Given the description of an element on the screen output the (x, y) to click on. 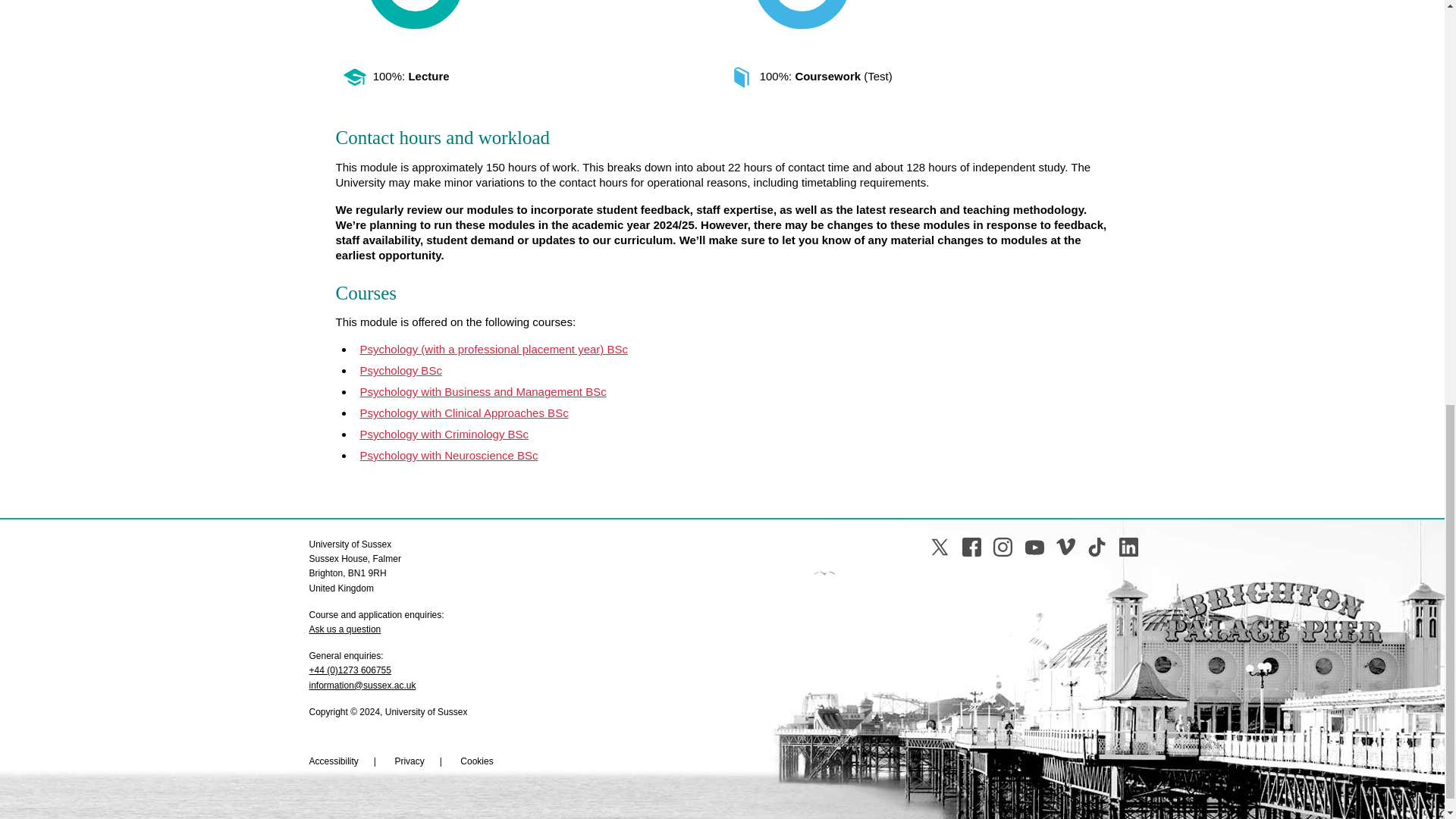
Tiktok (1096, 546)
Linkedin (1128, 546)
Twitter (939, 546)
Facebook (971, 546)
YouTube (1034, 546)
Vimeo (1066, 546)
Instagram (1001, 546)
